Given the description of an element on the screen output the (x, y) to click on. 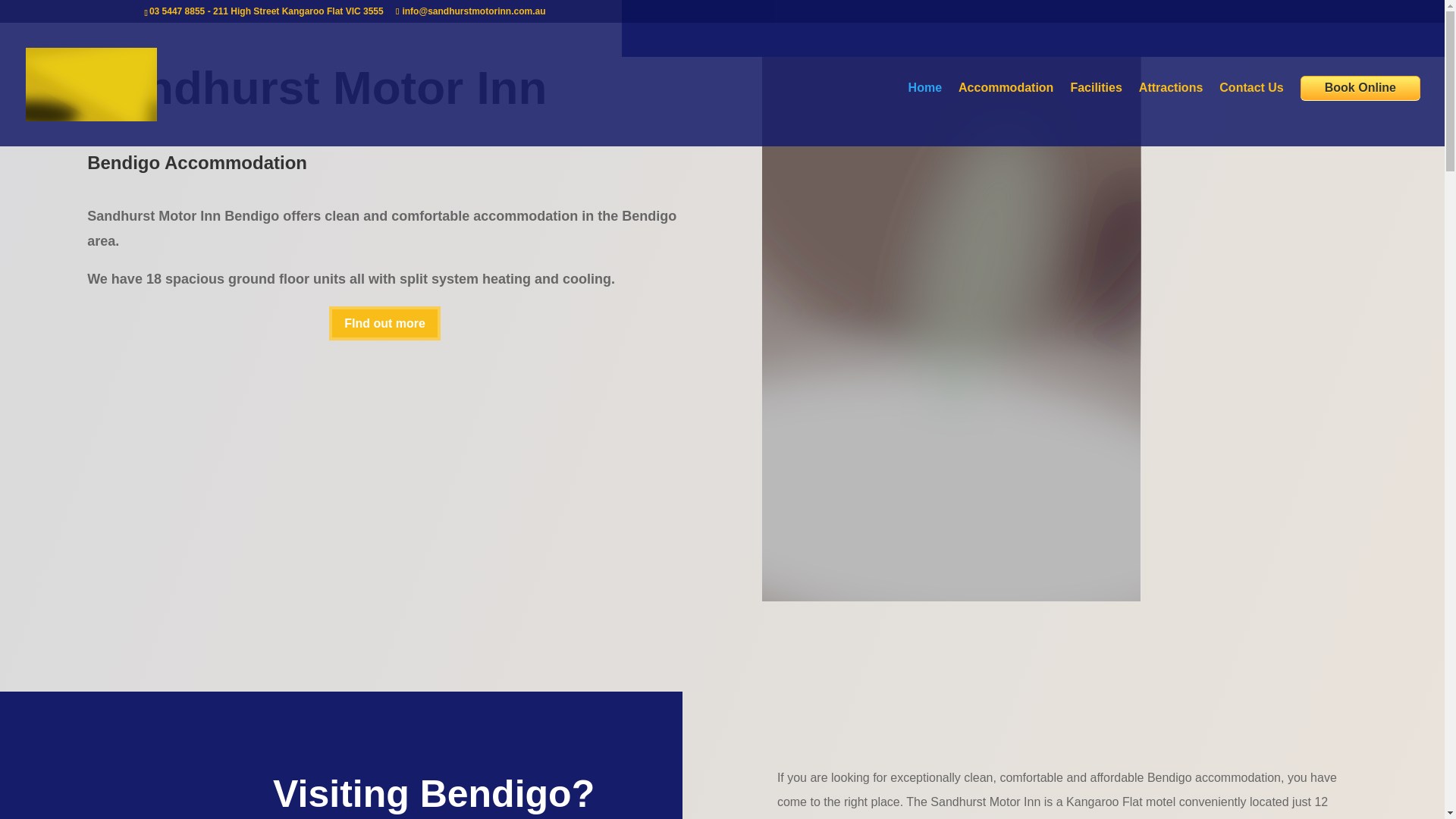
Book Online (1360, 87)
FInd out more (385, 323)
Contact Us (1251, 114)
03 5447 8855 (177, 10)
Attractions (1170, 114)
Accommodation (1005, 114)
